Given the description of an element on the screen output the (x, y) to click on. 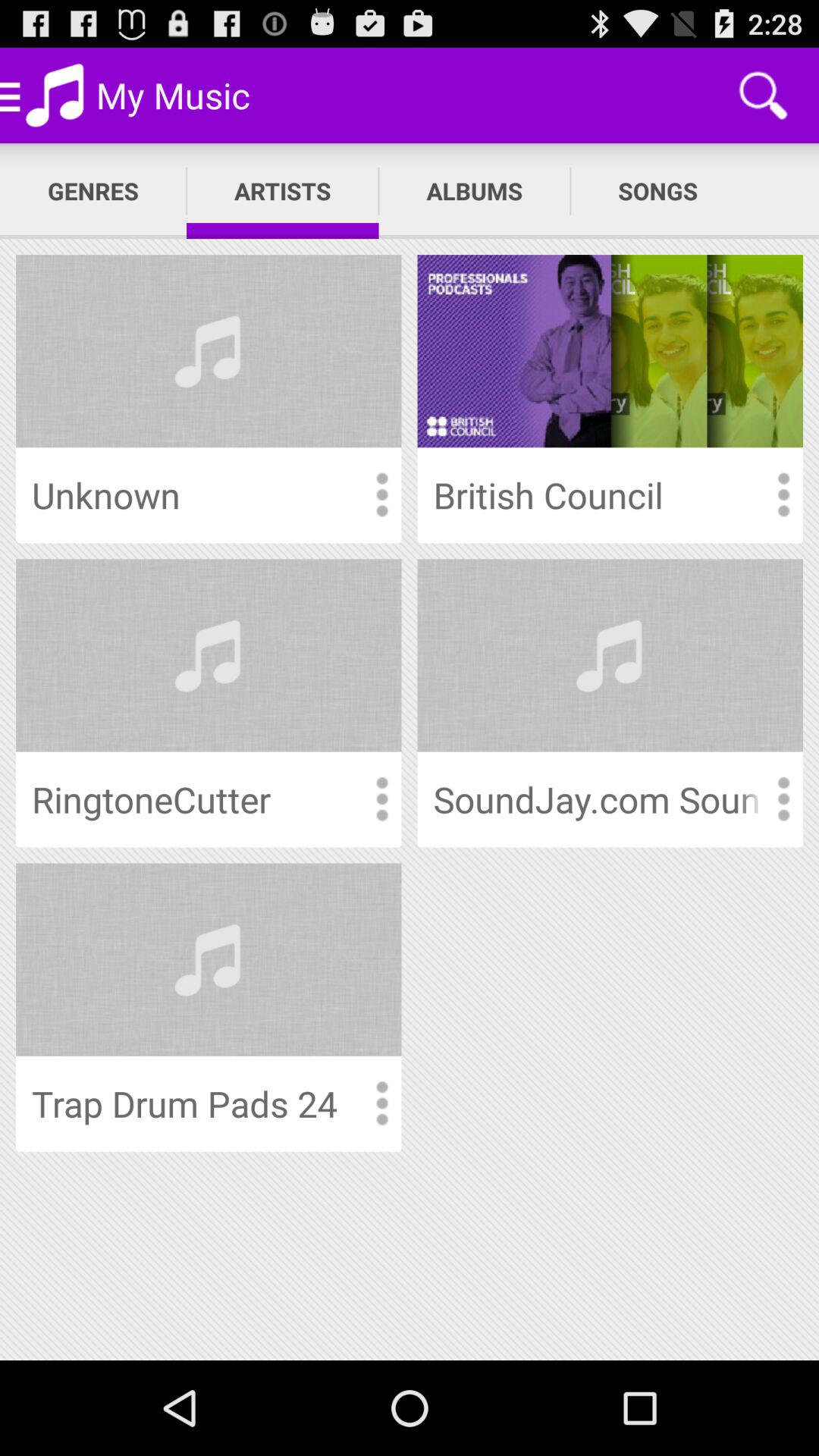
turn off item next to the songs icon (474, 190)
